Given the description of an element on the screen output the (x, y) to click on. 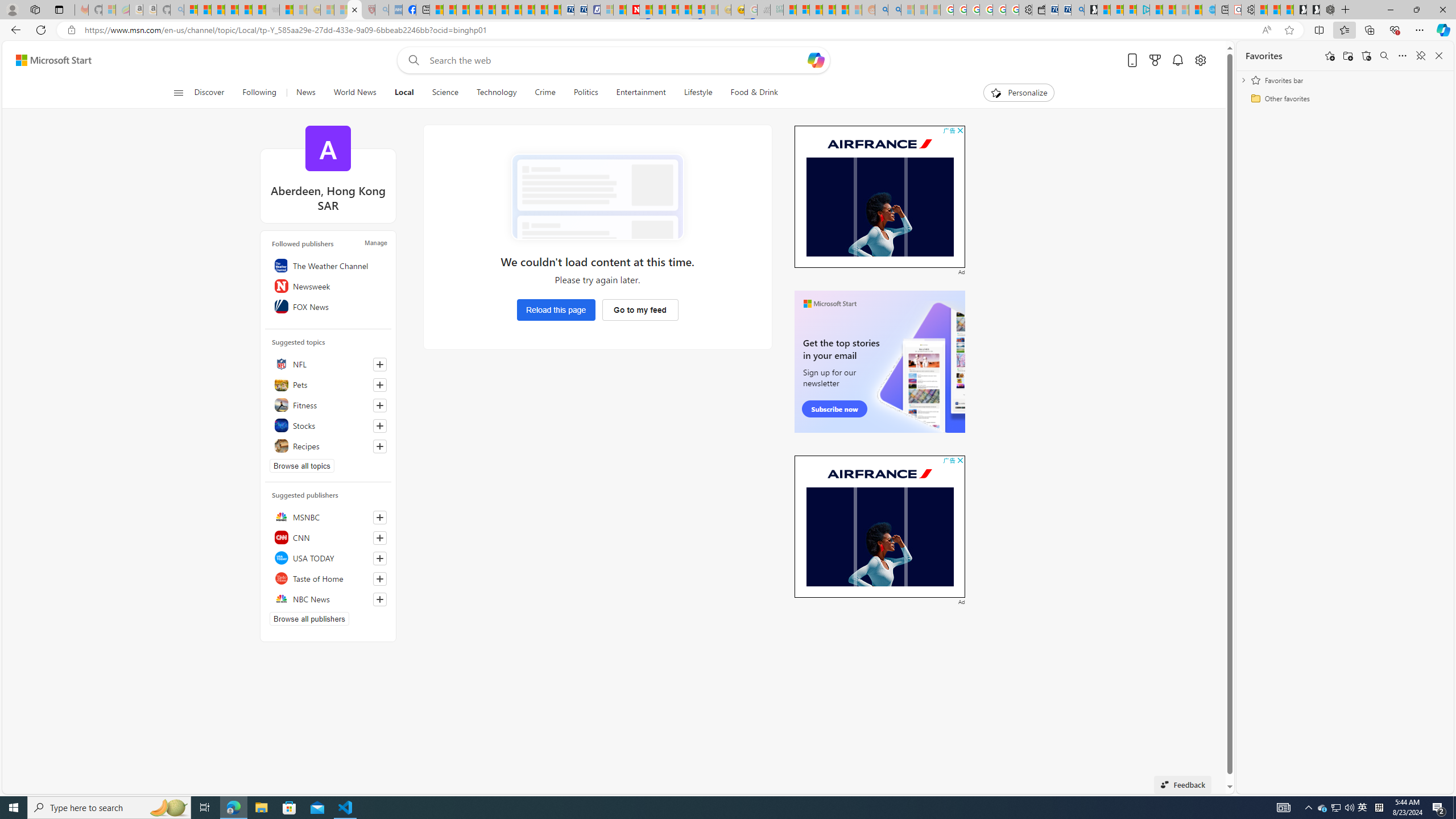
Home | Sky Blue Bikes - Sky Blue Bikes (1208, 9)
Manage (375, 242)
